Given the description of an element on the screen output the (x, y) to click on. 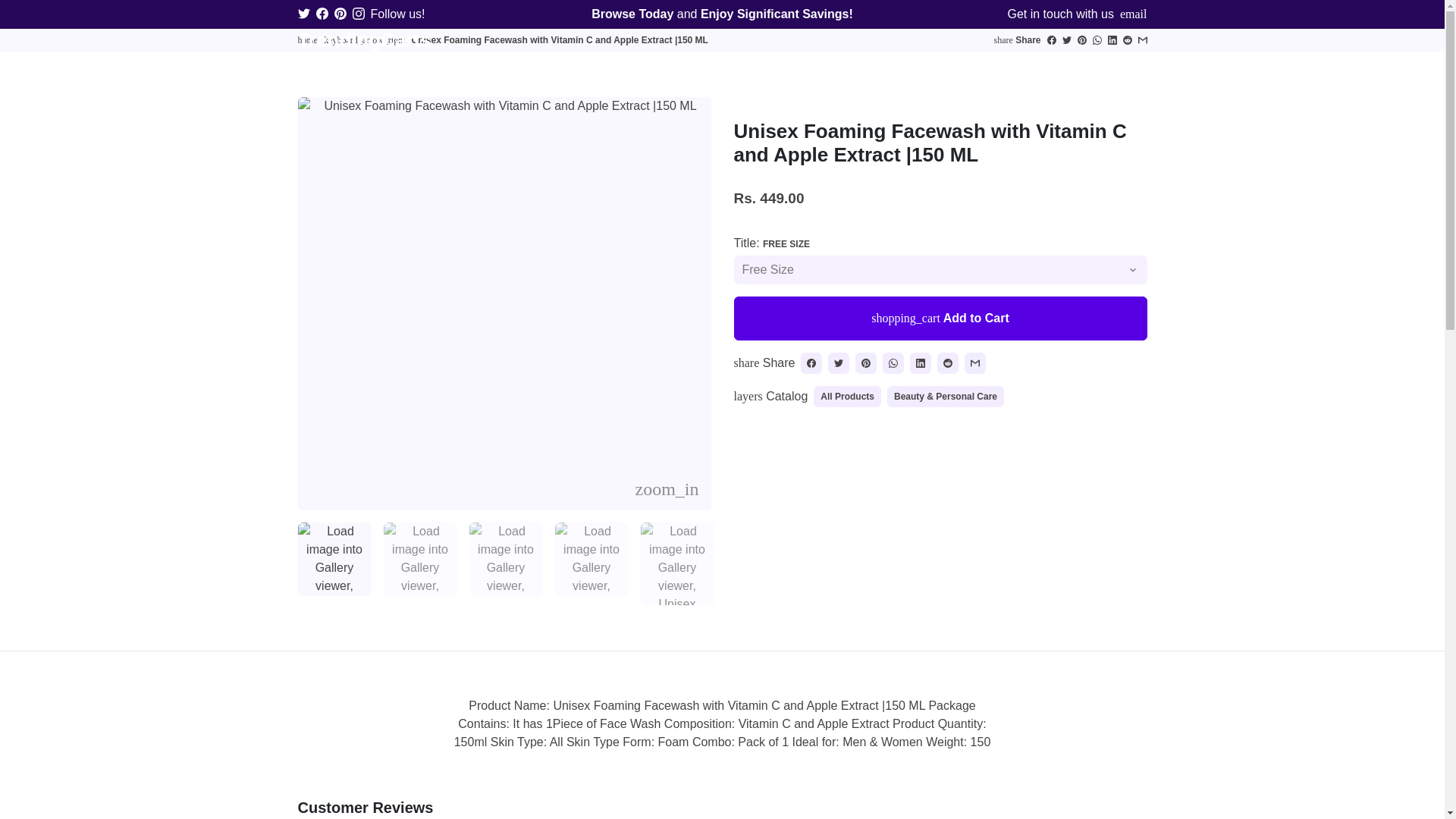
Track Your Order (627, 66)
Search (1001, 66)
TrendingCarts on Pinterest (339, 13)
TrendingCarts (363, 66)
TrendingCarts on Facebook (321, 13)
Log In (913, 66)
TrendingCarts on Twitter (302, 13)
Home (466, 66)
TrendingCarts on Instagram (358, 13)
email (1133, 13)
Collections (531, 66)
Trendingcarts (307, 40)
FAQs (708, 66)
Cart (1089, 66)
